Given the description of an element on the screen output the (x, y) to click on. 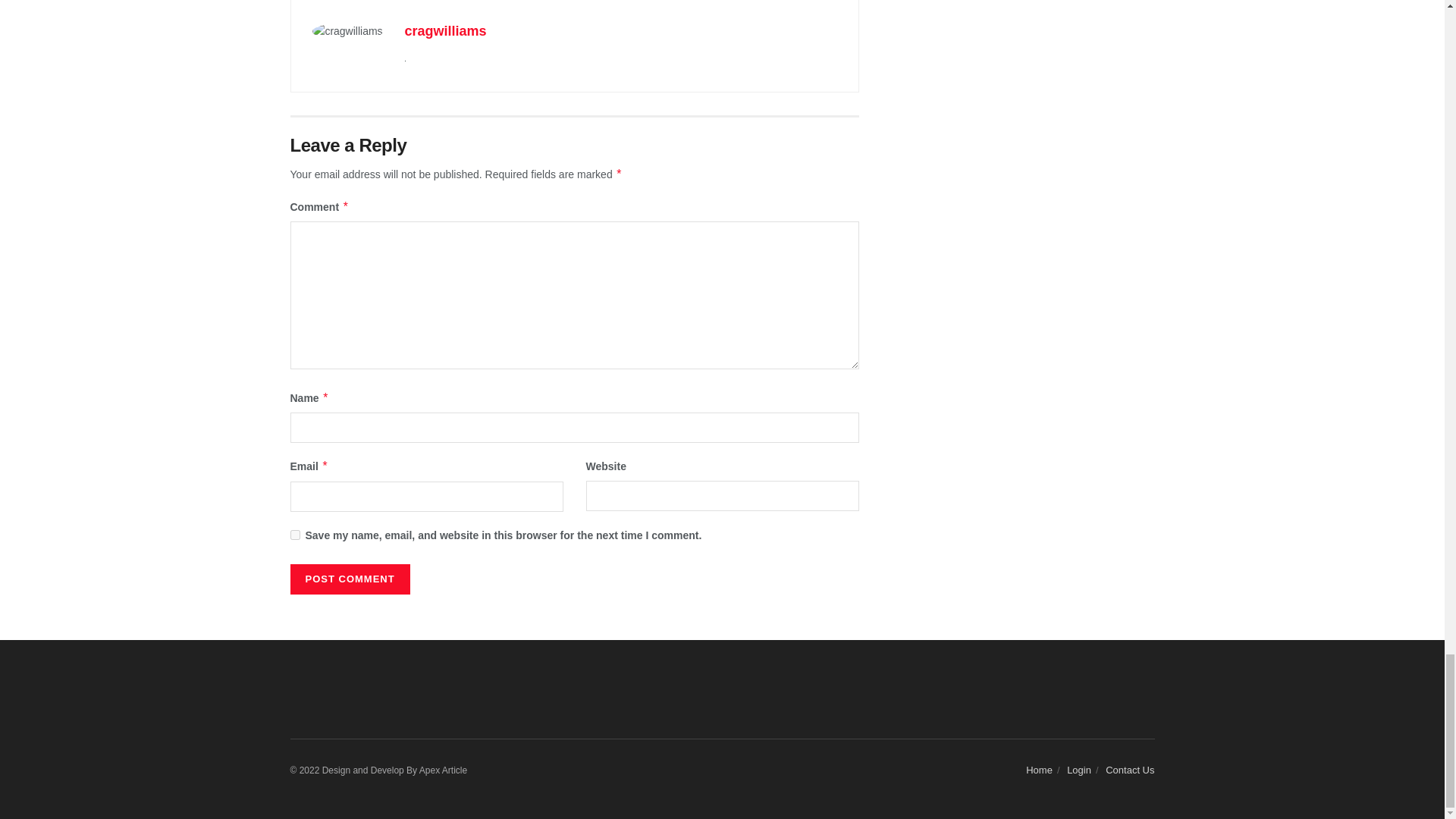
Post Comment (349, 579)
yes (294, 534)
